Given the description of an element on the screen output the (x, y) to click on. 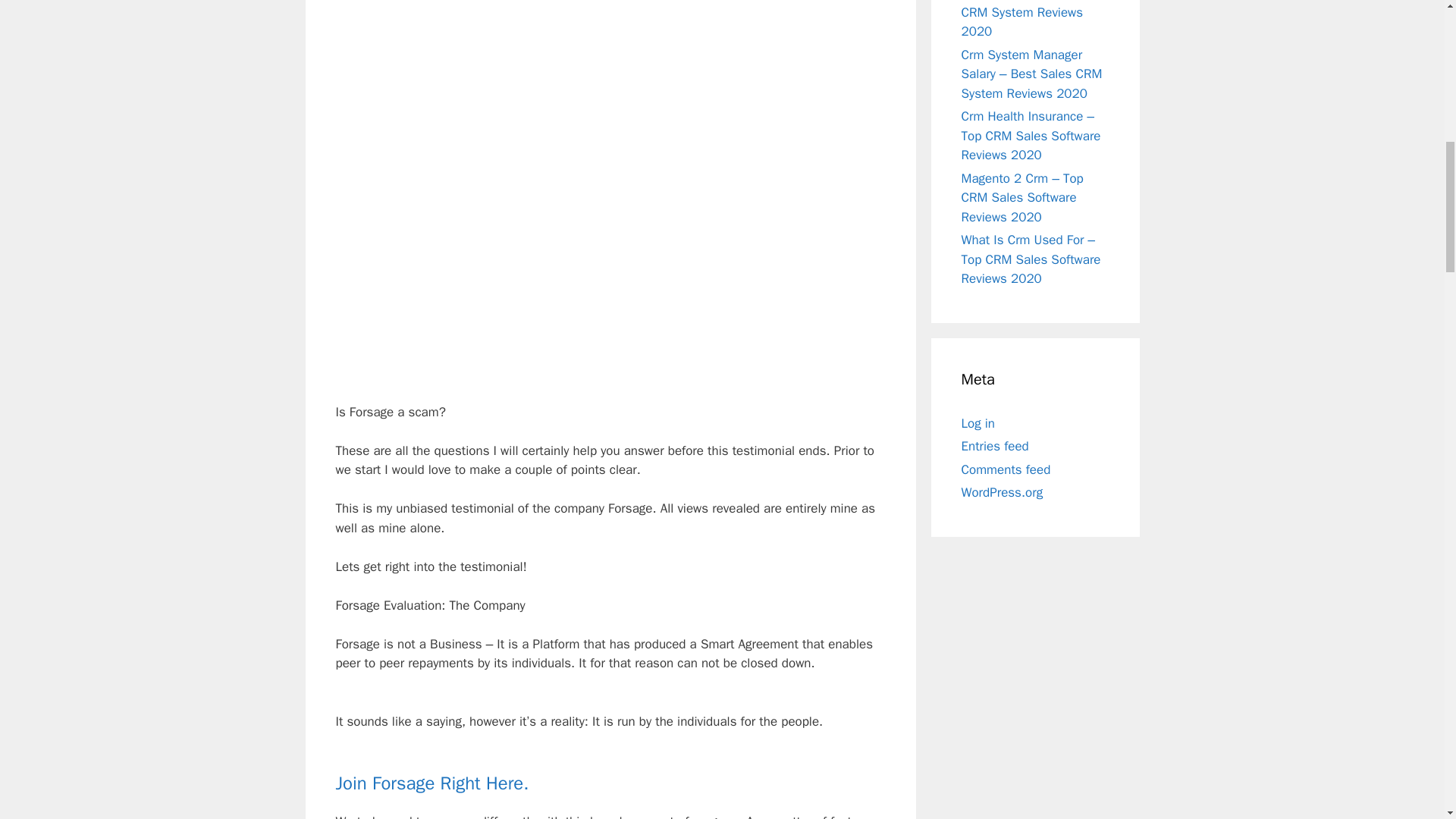
WordPress.org (1001, 492)
Log in (977, 423)
Join Forsage Right Here. (431, 783)
Comments feed (1005, 469)
Entries feed (994, 446)
